Given the description of an element on the screen output the (x, y) to click on. 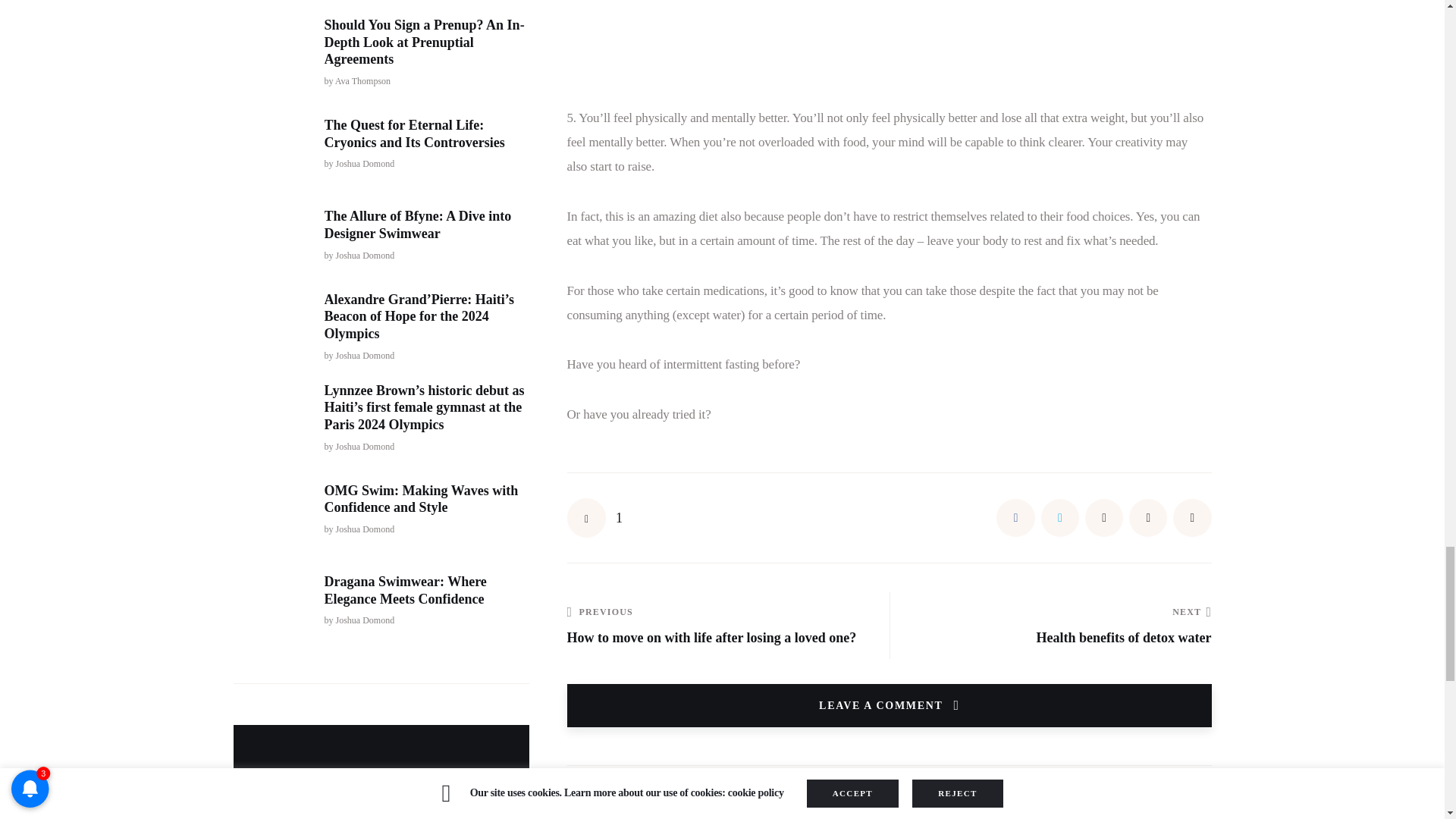
Like (595, 517)
